Given the description of an element on the screen output the (x, y) to click on. 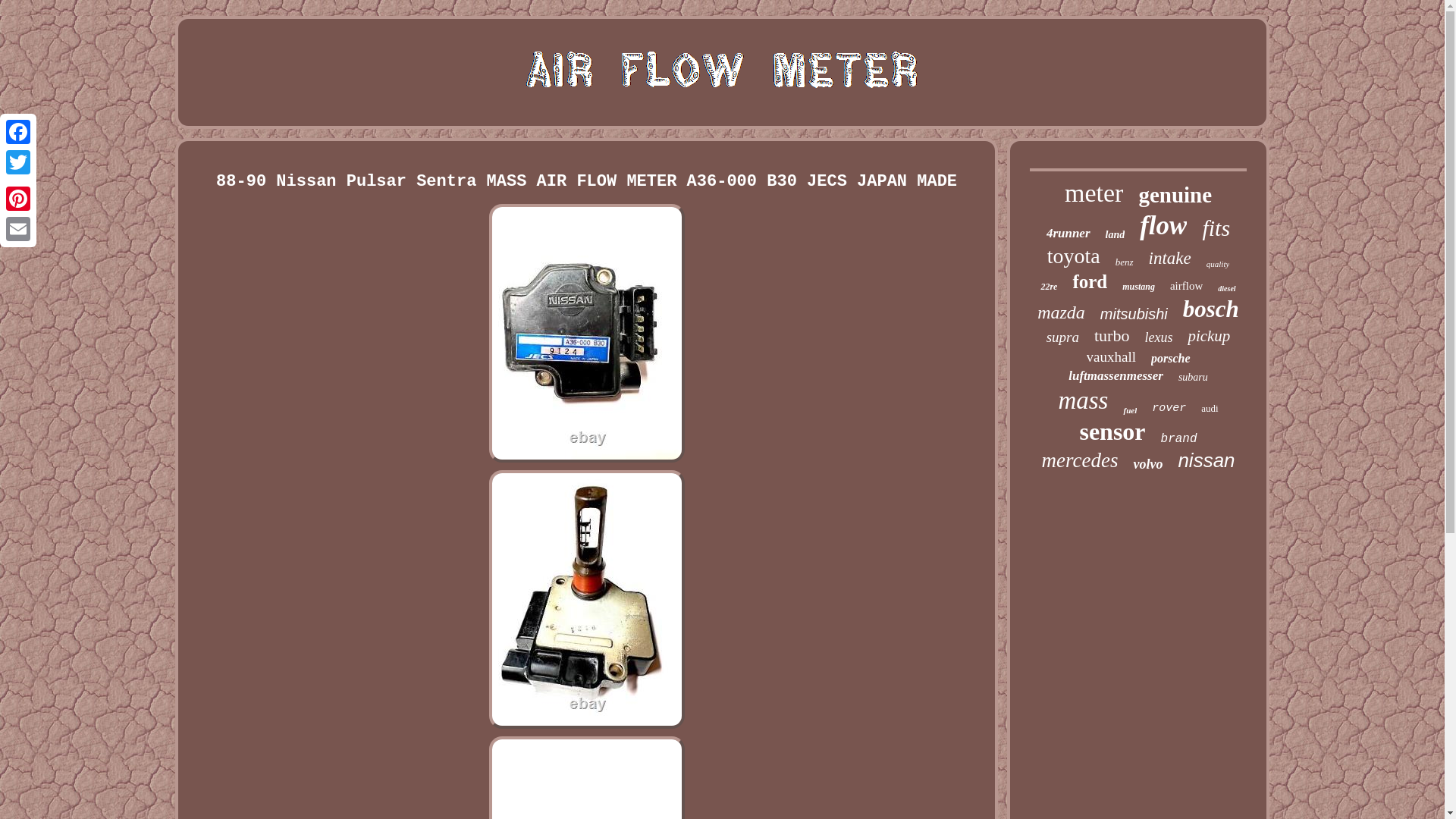
fuel (1129, 409)
Email (17, 228)
subaru (1192, 377)
porsche (1171, 358)
lexus (1158, 337)
genuine (1174, 195)
benz (1124, 262)
mazda (1060, 312)
supra (1062, 337)
ford (1088, 281)
4runner (1068, 233)
mitsubishi (1133, 313)
toyota (1073, 256)
turbo (1111, 335)
